Given the description of an element on the screen output the (x, y) to click on. 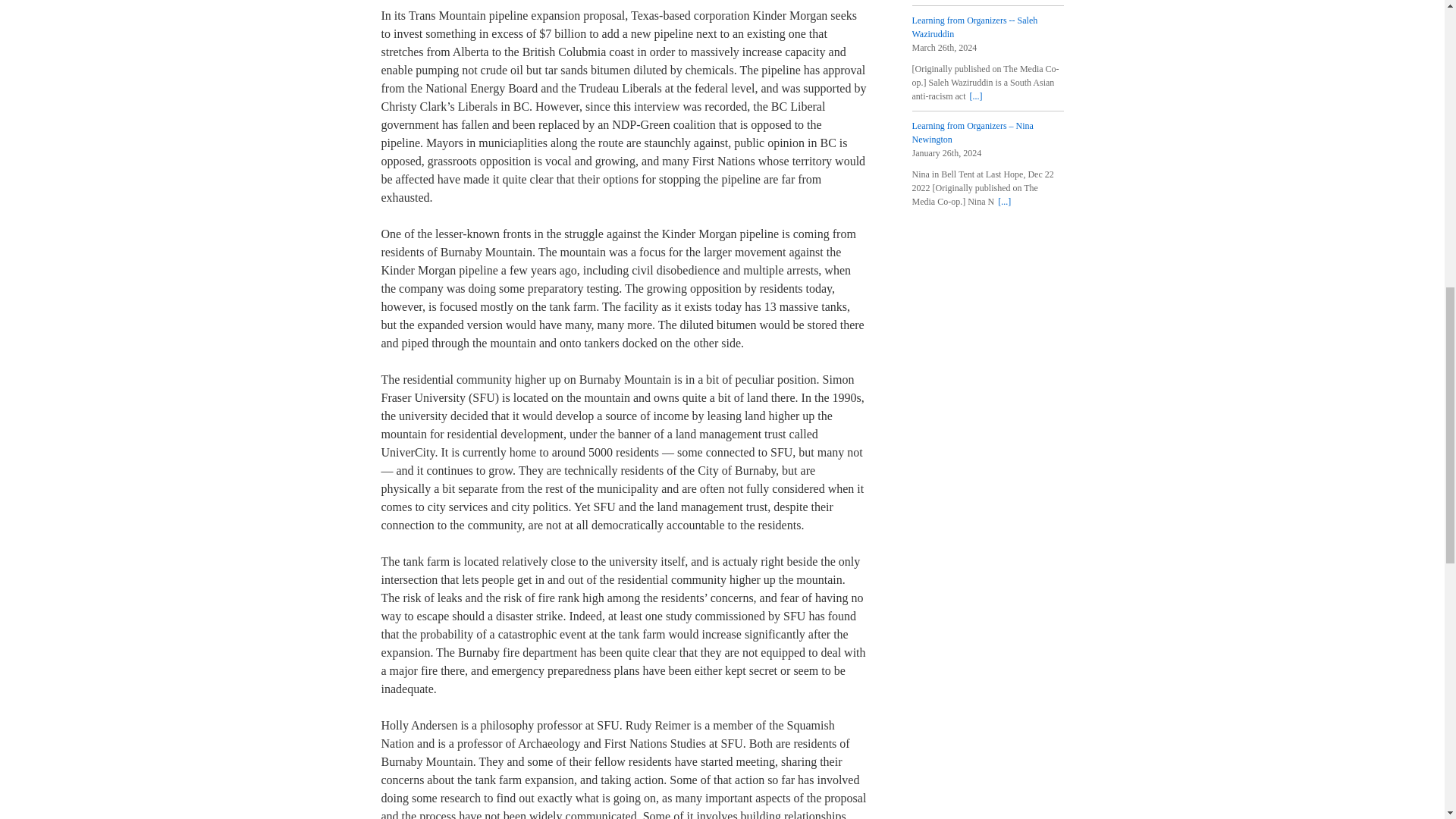
Learning from Organizers -- Saleh Waziruddin (973, 27)
Learning from Organizers -- Saleh Waziruddin (975, 95)
